Given the description of an element on the screen output the (x, y) to click on. 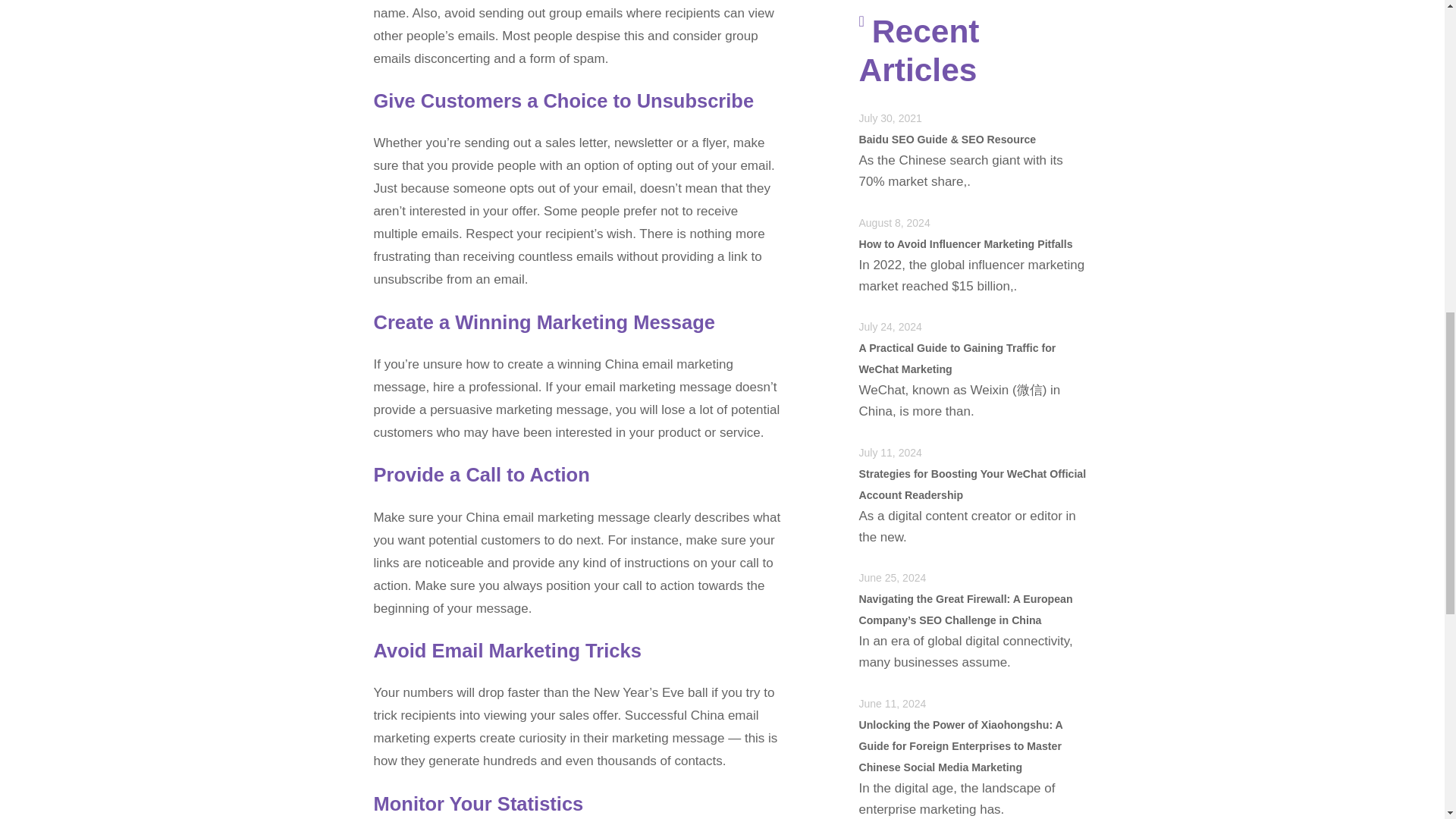
Permanent Link to How to Avoid Influencer Marketing Pitfalls (965, 244)
